Given the description of an element on the screen output the (x, y) to click on. 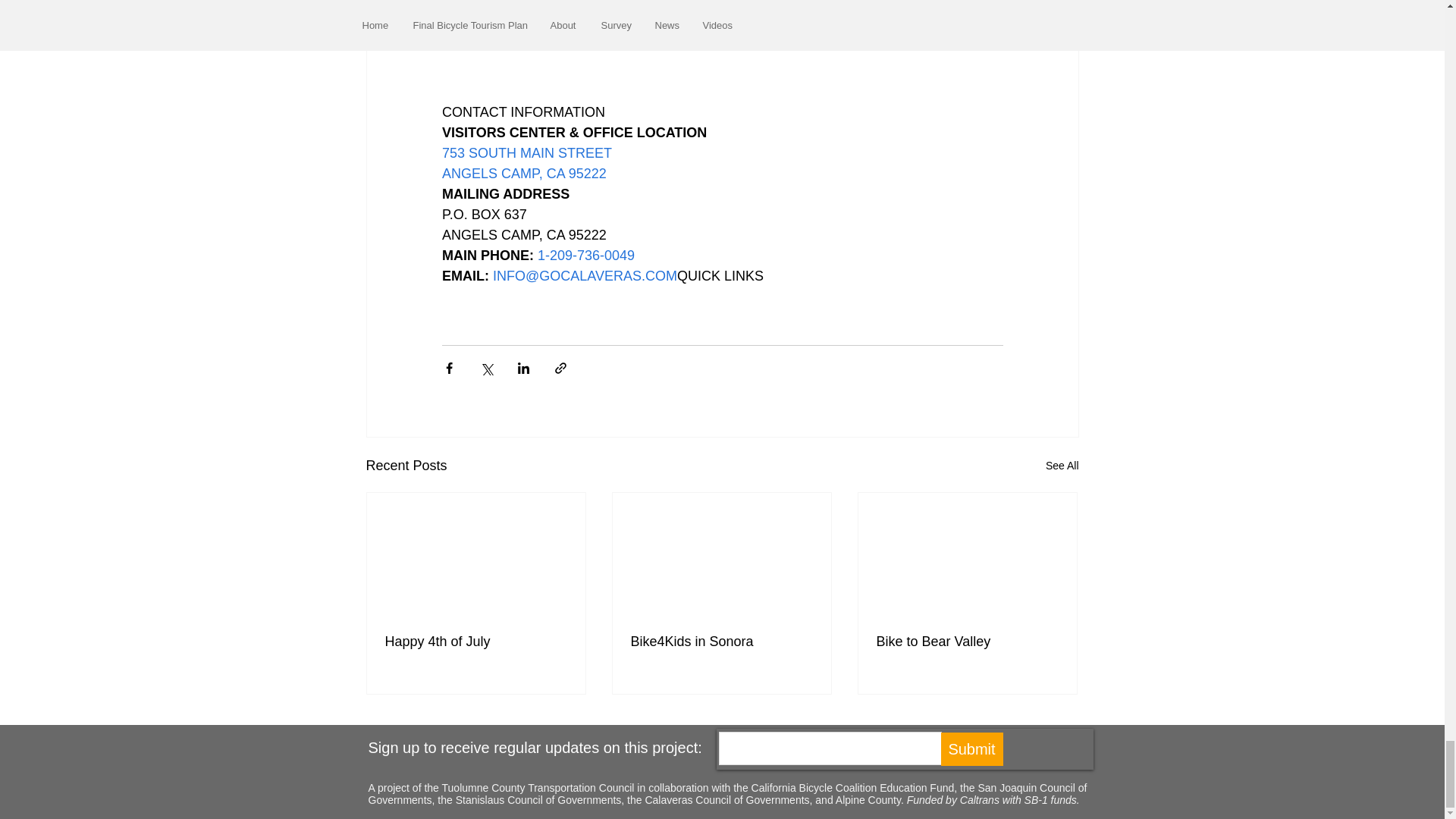
ANGELS CAMP, CA 95222 (523, 173)
1-209-736-0049 (585, 255)
753 SOUTH MAIN STREET (526, 152)
